Given the description of an element on the screen output the (x, y) to click on. 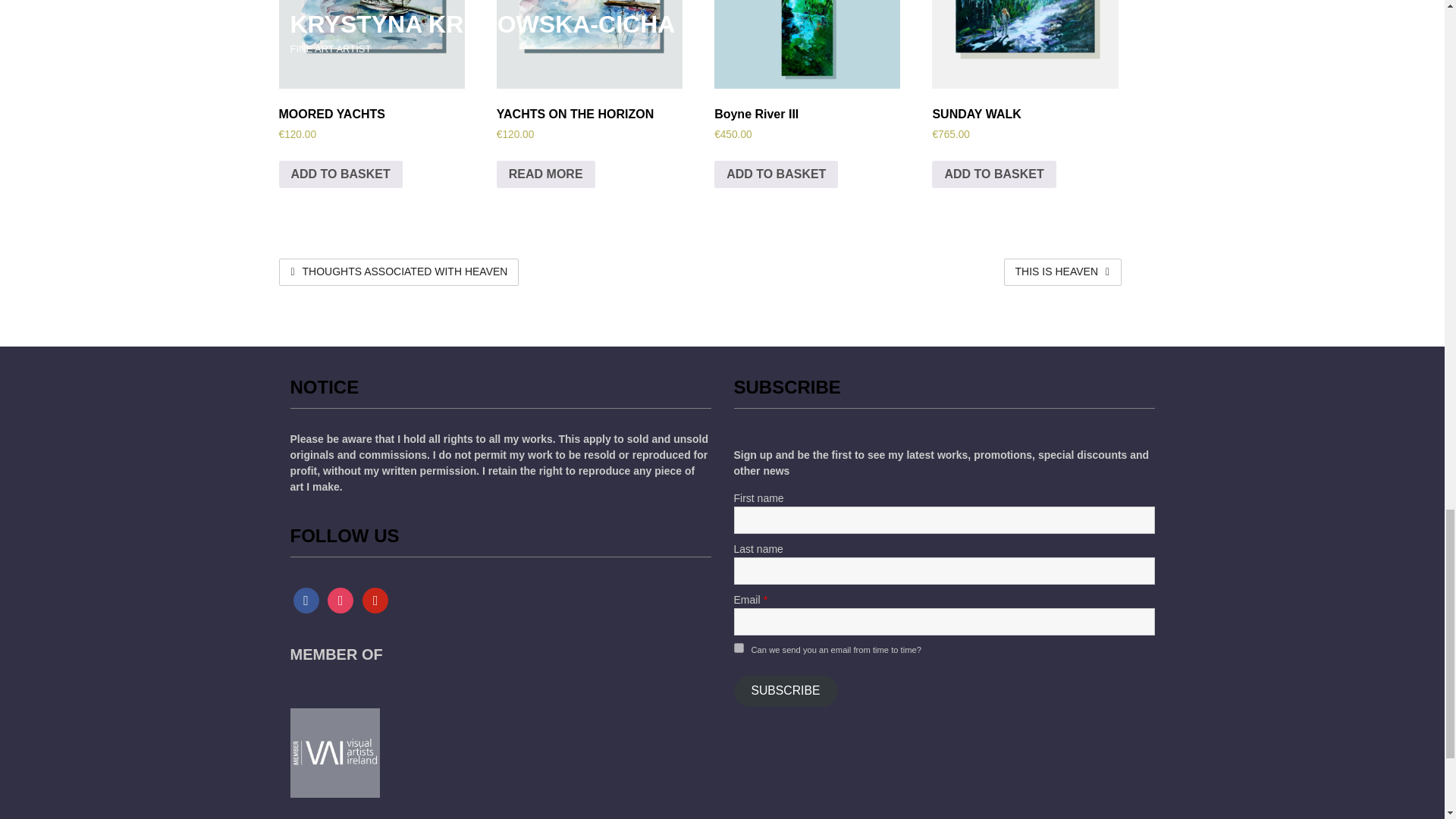
Instagram (340, 599)
Facebook (305, 599)
Pinterest (375, 599)
on (738, 647)
